Given the description of an element on the screen output the (x, y) to click on. 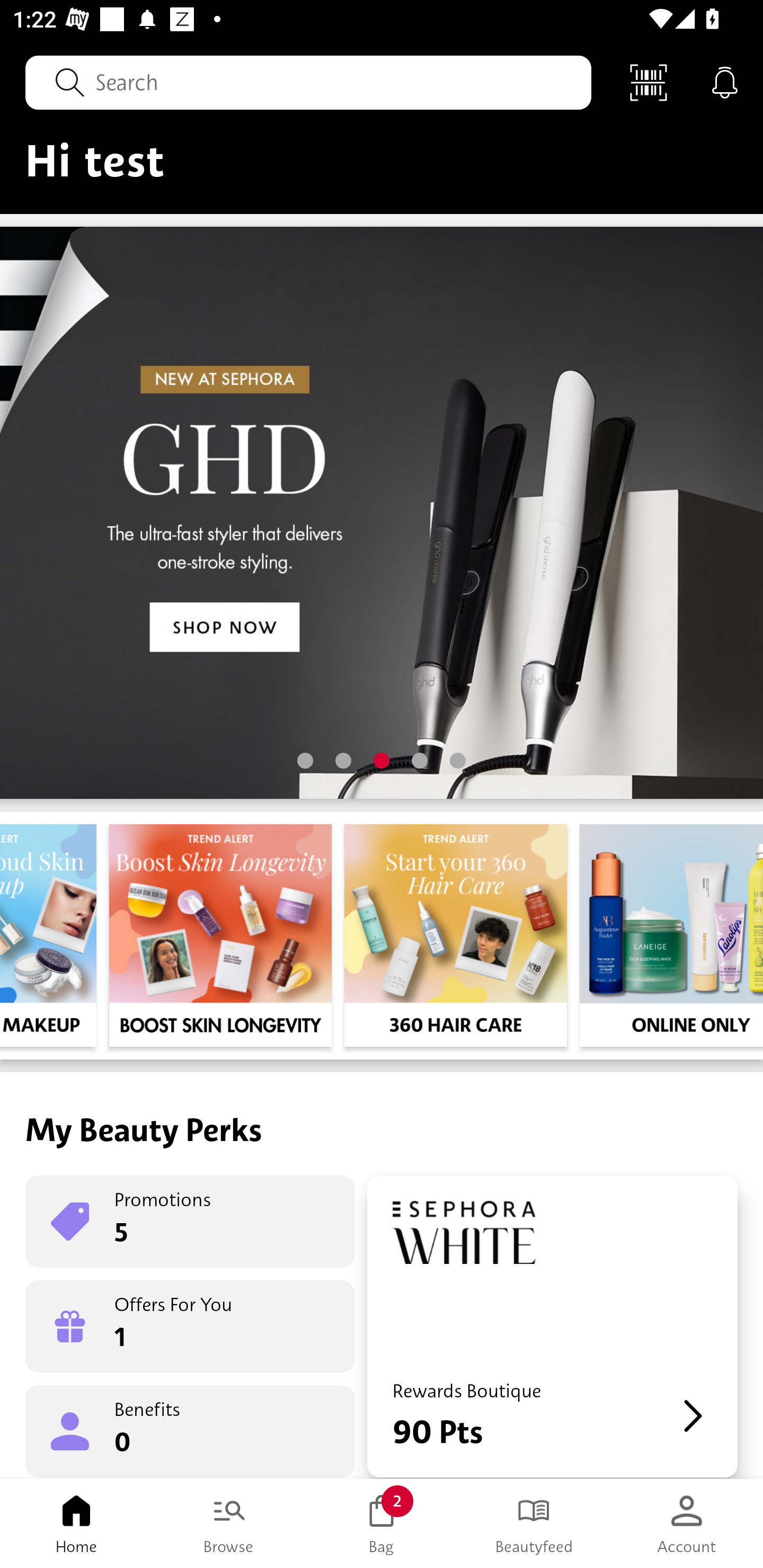
Scan Code (648, 81)
Notifications (724, 81)
Search (308, 81)
Promotions 5 (189, 1221)
Rewards Boutique 90 Pts (552, 1326)
Offers For You 1 (189, 1326)
Benefits 0 (189, 1430)
Browse (228, 1523)
Bag 2 Bag (381, 1523)
Beautyfeed (533, 1523)
Account (686, 1523)
